Given the description of an element on the screen output the (x, y) to click on. 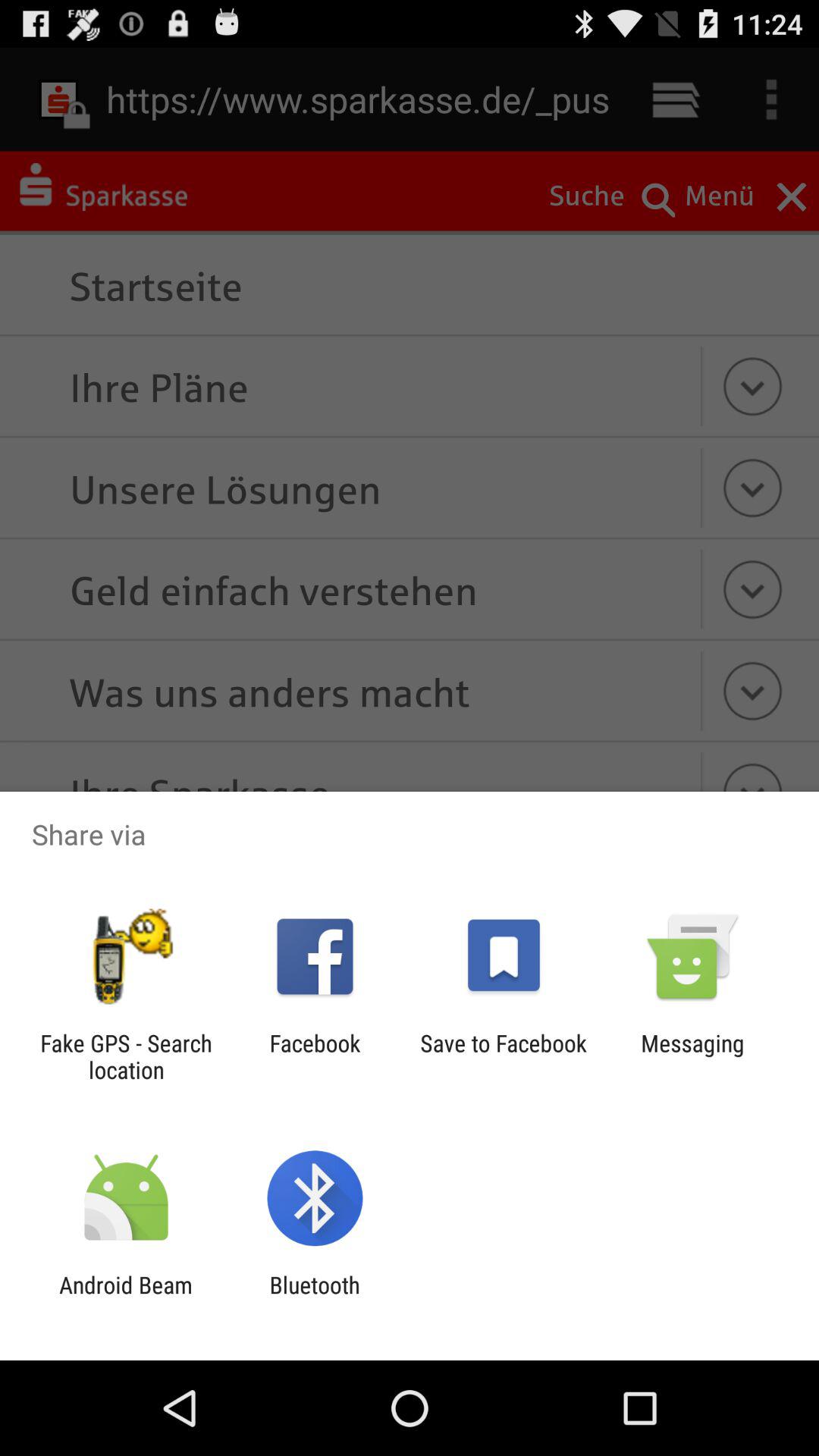
jump until the messaging icon (692, 1056)
